Given the description of an element on the screen output the (x, y) to click on. 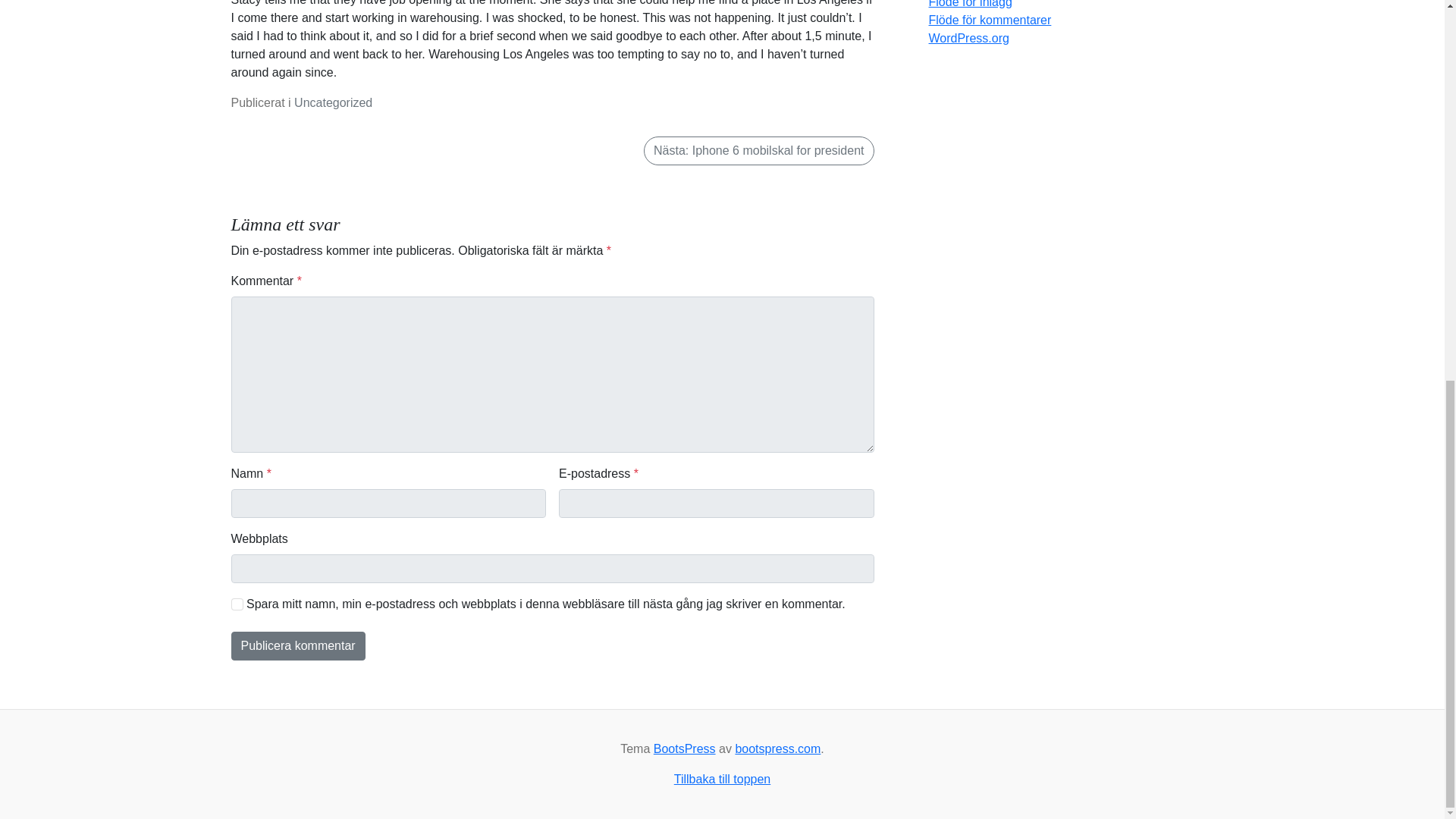
yes (236, 604)
BootsPress (684, 748)
WordPress.org (968, 38)
Publicera kommentar (297, 645)
Tillbaka till toppen (722, 779)
Publicera kommentar (297, 645)
bootspress.com (778, 748)
Uncategorized (333, 102)
